Given the description of an element on the screen output the (x, y) to click on. 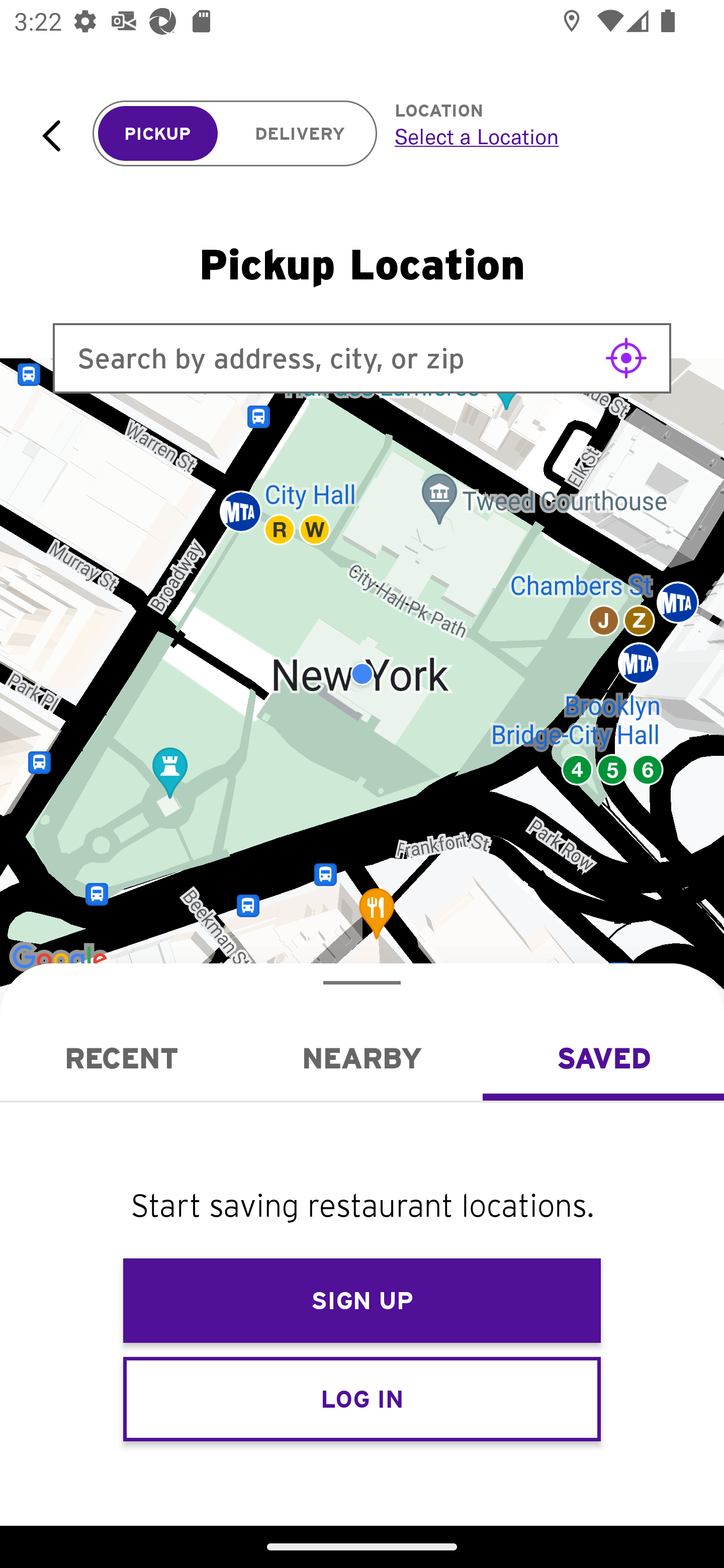
PICKUP (157, 133)
DELIVERY (299, 133)
Select a Location (536, 136)
Search by address, city, or zip (361, 358)
Google Map (362, 674)
Recent RECENT (120, 1058)
Nearby NEARBY (361, 1058)
SIGN UP (361, 1300)
LOG IN (361, 1398)
